Given the description of an element on the screen output the (x, y) to click on. 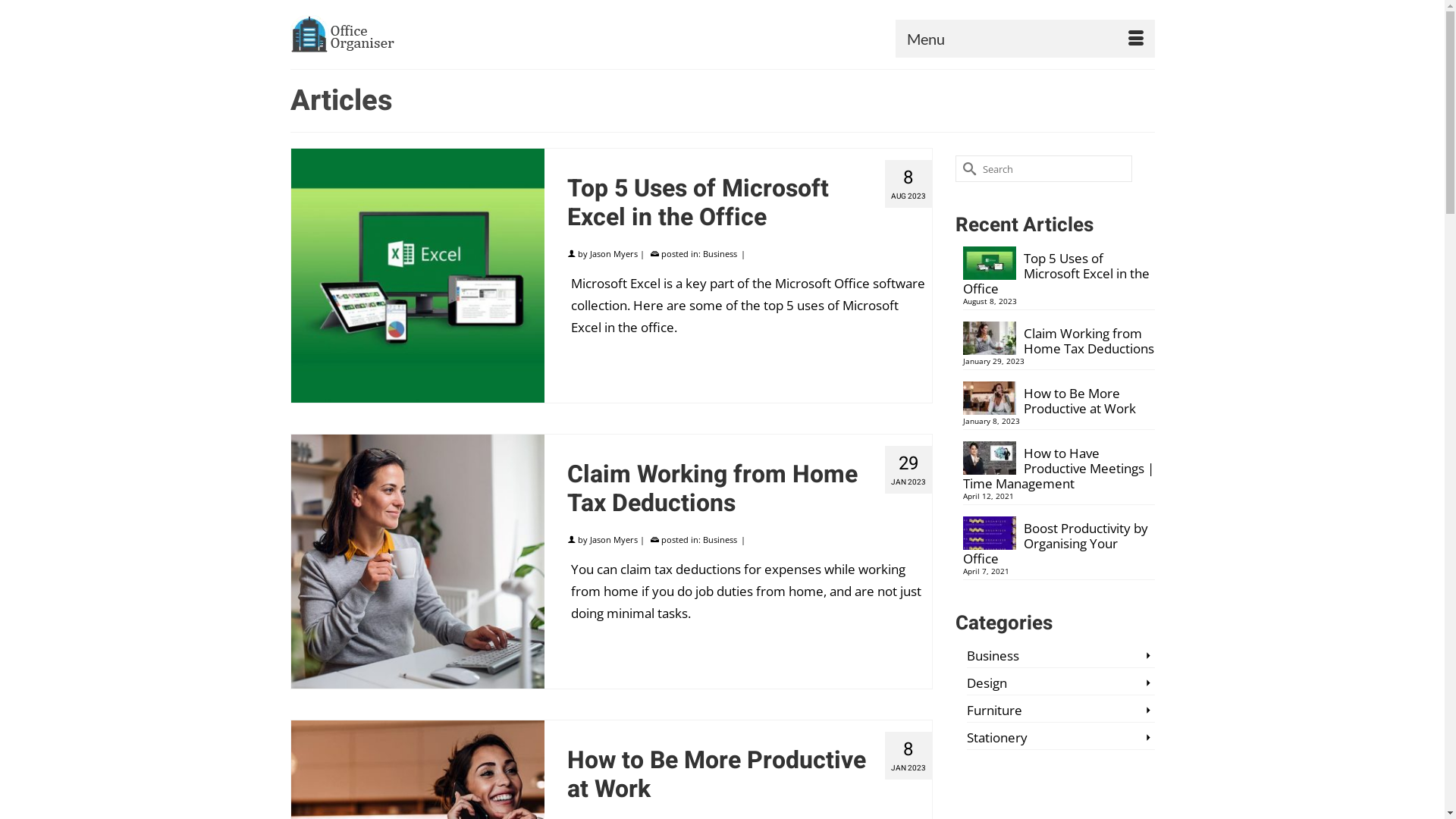
Office Organiser Element type: hover (425, 34)
Top 5 Uses of Microsoft Excel in the Office Element type: text (749, 199)
Claim Working from Home Tax Deductions Element type: hover (418, 561)
Claim Working from Home Tax Deductions Element type: text (749, 484)
Jason Myers Element type: text (613, 253)
Business Element type: text (719, 539)
Stationery Element type: text (1060, 737)
Business Element type: text (1060, 656)
Boost Productivity by Organising Your Office Element type: text (1058, 541)
Top 5 Uses of Microsoft Excel in the Office Element type: text (1058, 271)
How to Have Productive Meetings | Time Management Element type: text (1058, 466)
Menu Element type: text (1024, 38)
Jason Myers Element type: text (613, 539)
Business Element type: text (719, 253)
Furniture Element type: text (1060, 710)
How to Be More Productive at Work Element type: text (749, 770)
Design Element type: text (1060, 683)
Top 5 Uses of Microsoft Excel in the Office Element type: hover (418, 275)
How to Be More Productive at Work Element type: text (1058, 398)
Claim Working from Home Tax Deductions Element type: text (1058, 338)
